Given the description of an element on the screen output the (x, y) to click on. 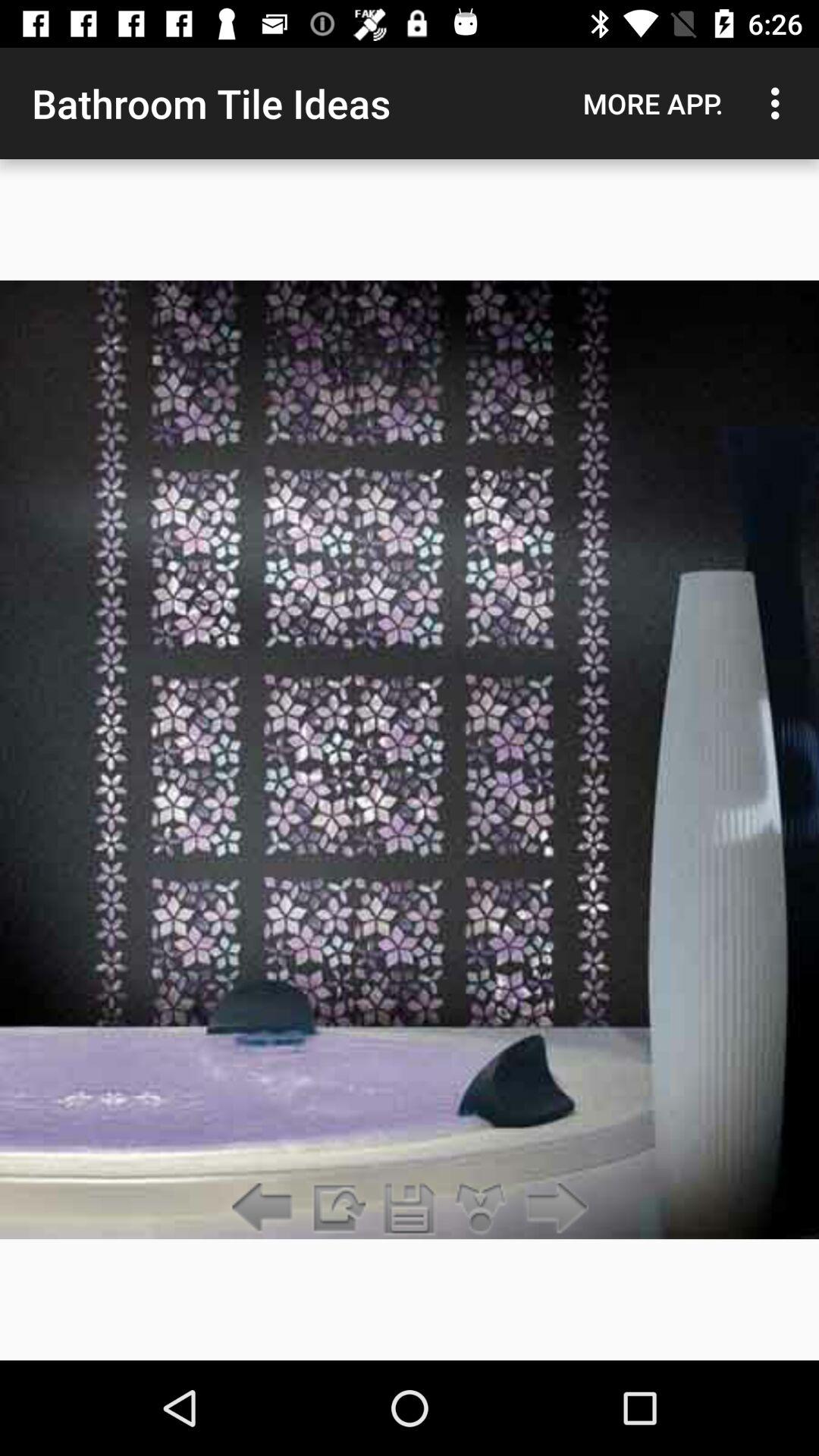
next arrow (552, 1209)
